Given the description of an element on the screen output the (x, y) to click on. 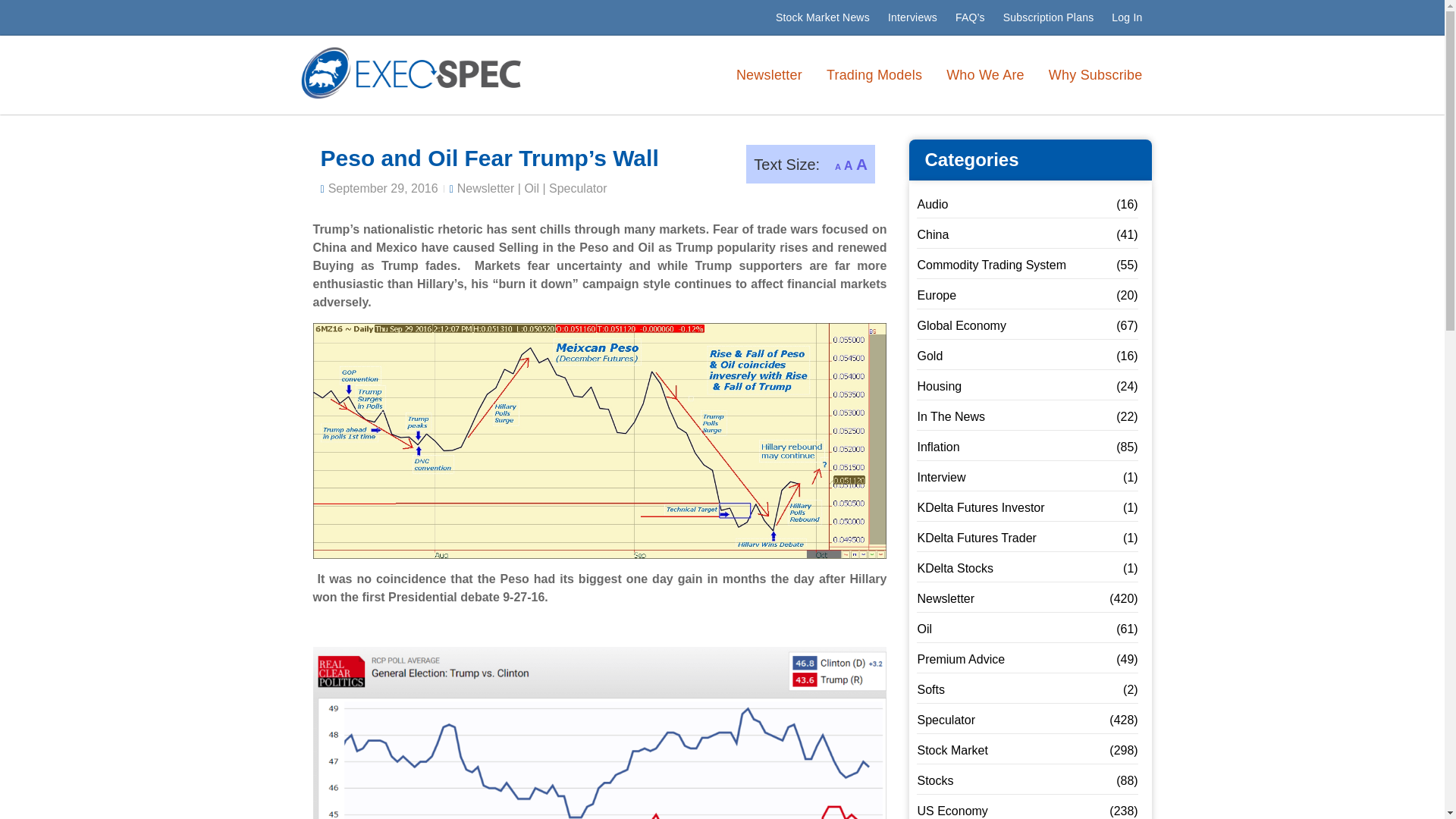
Subscription Plans (1048, 17)
Log In (1126, 17)
Who We Are (985, 75)
Stock Market News (823, 17)
Newsletter (769, 75)
Trading Models (874, 75)
Why Subscribe (1095, 75)
Interviews (912, 17)
